Given the description of an element on the screen output the (x, y) to click on. 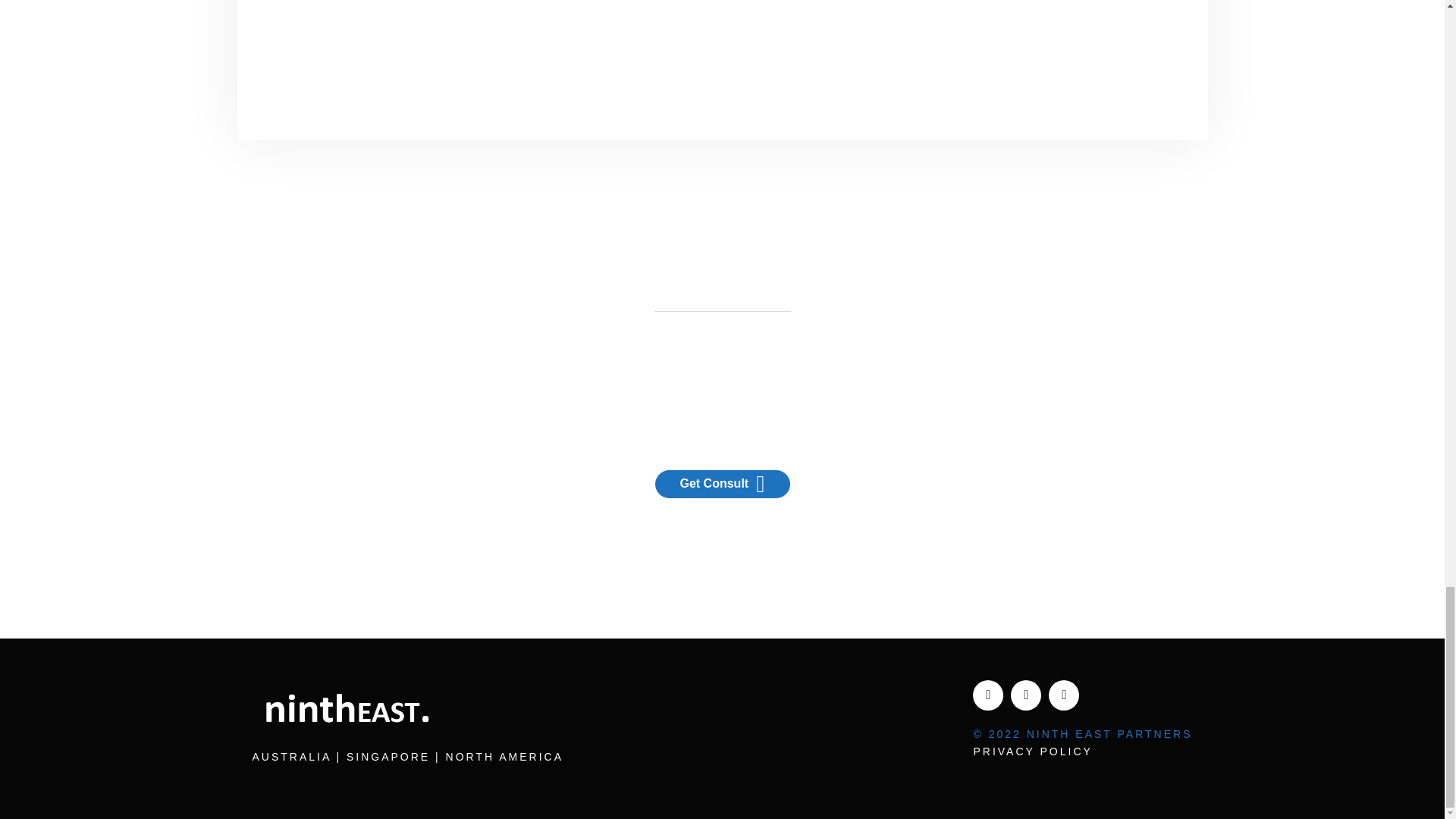
linkedin (987, 695)
twitter (1025, 695)
instagram (1063, 695)
